Given the description of an element on the screen output the (x, y) to click on. 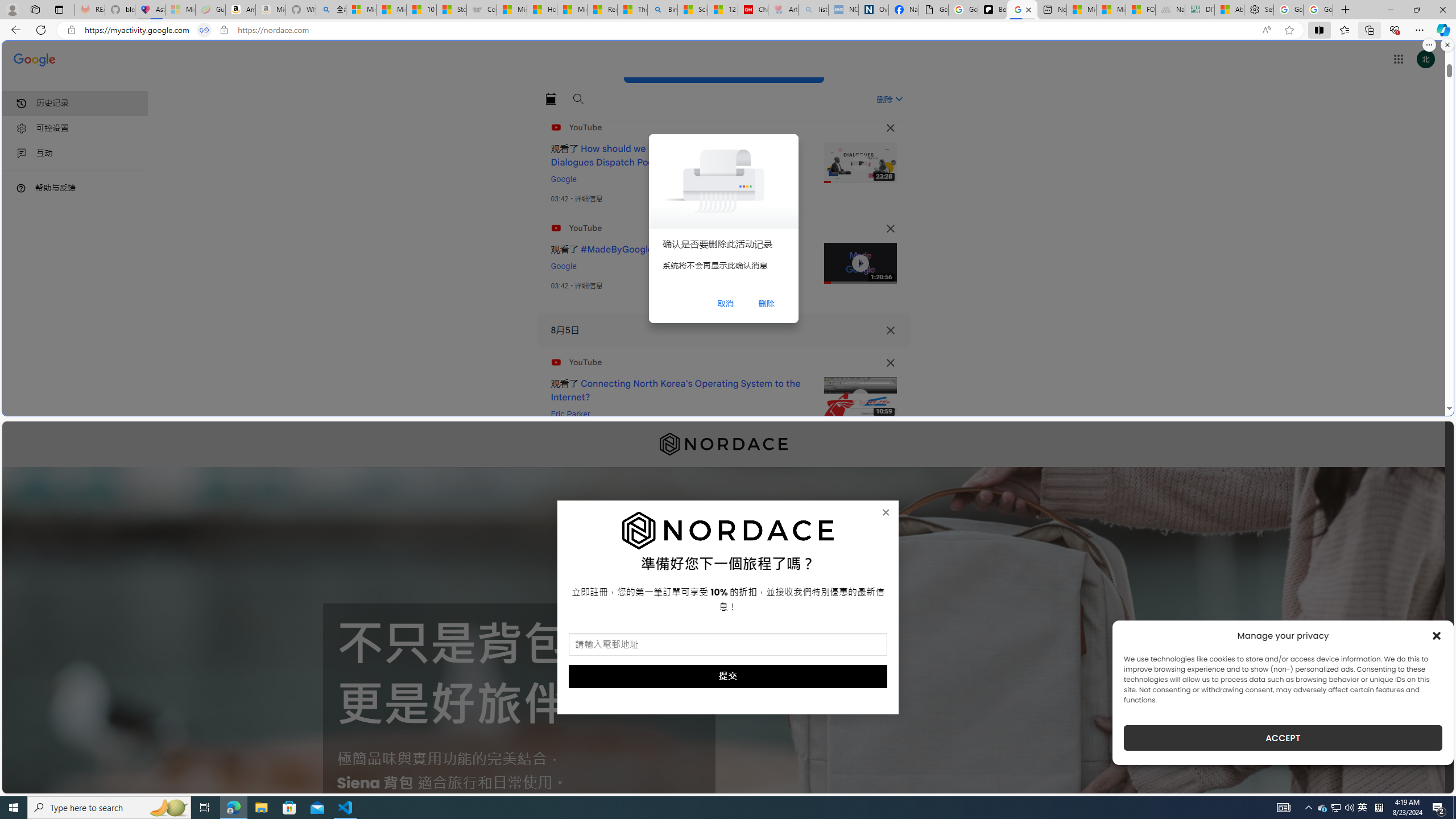
12 Popular Science Lies that Must be Corrected (722, 9)
Nordace (723, 443)
DITOGAMES AG Imprint (1200, 9)
